Given the description of an element on the screen output the (x, y) to click on. 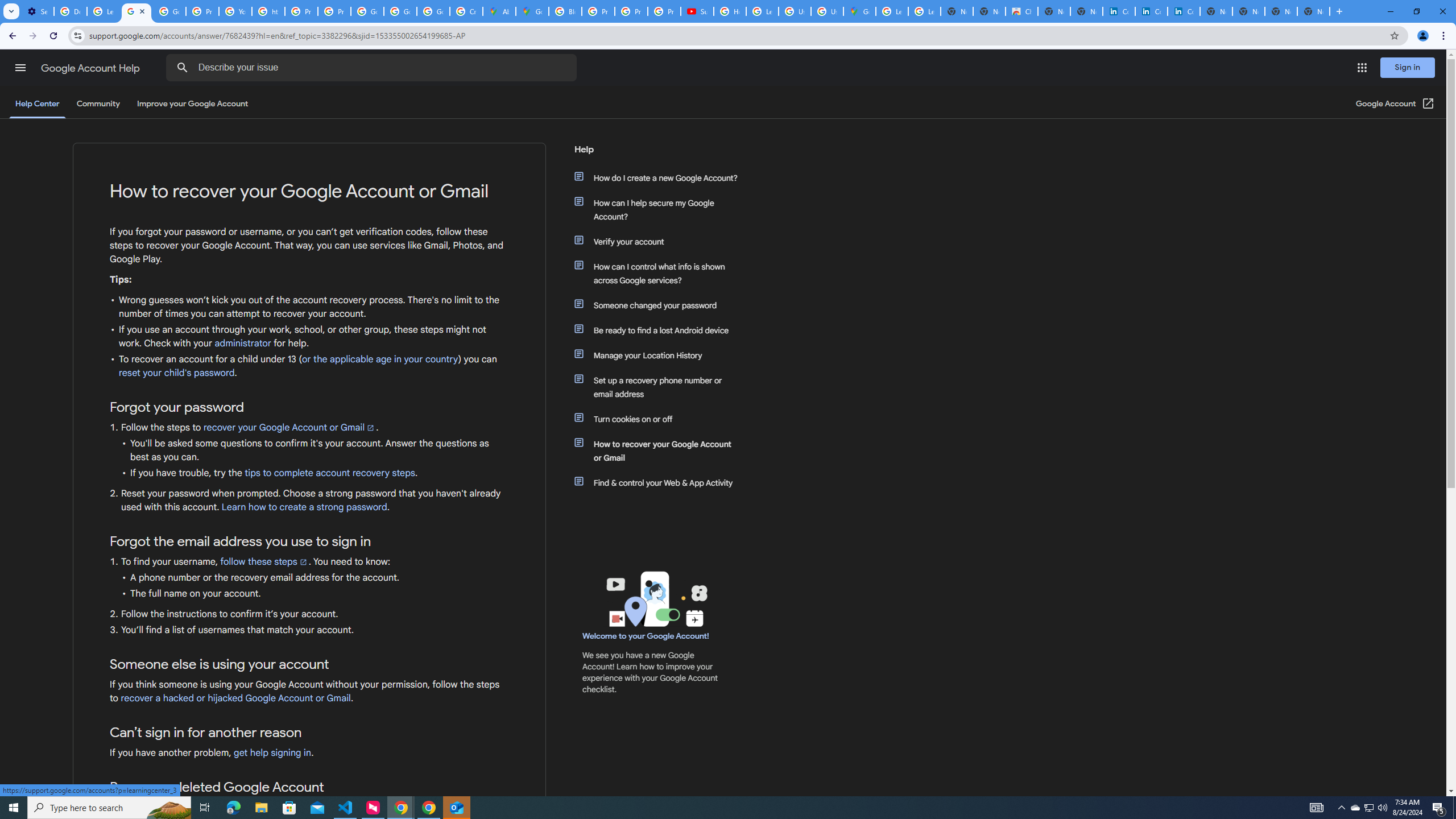
Verify your account (661, 241)
How can I help secure my Google Account? (661, 209)
Google Maps (532, 11)
